Given the description of an element on the screen output the (x, y) to click on. 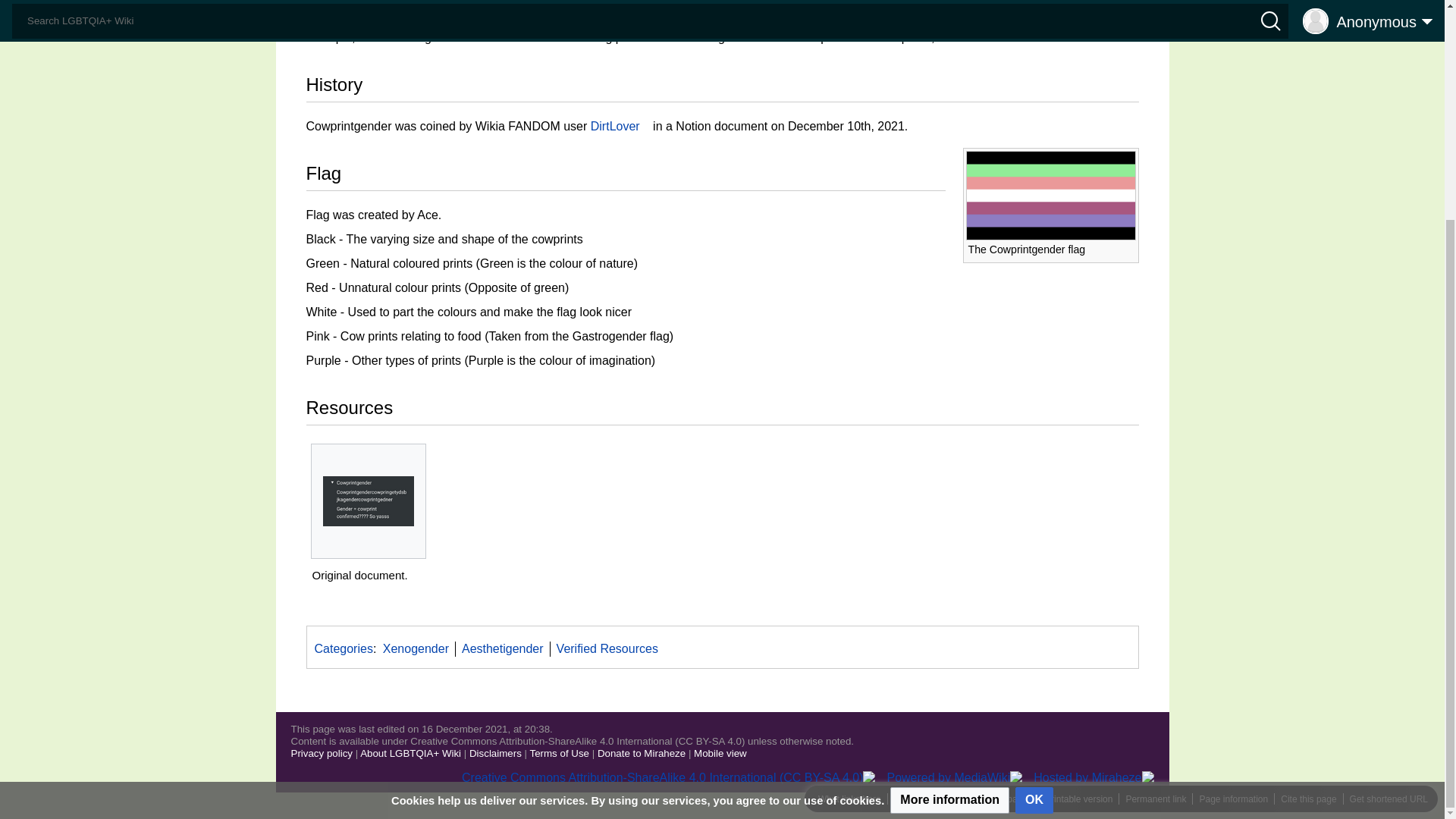
Category:Verified Resources (607, 648)
Category:Xenogender (415, 648)
Category:Aesthetigender (502, 648)
Xenogender (457, 19)
Original document. (368, 500)
Special:Categories (343, 648)
